Given the description of an element on the screen output the (x, y) to click on. 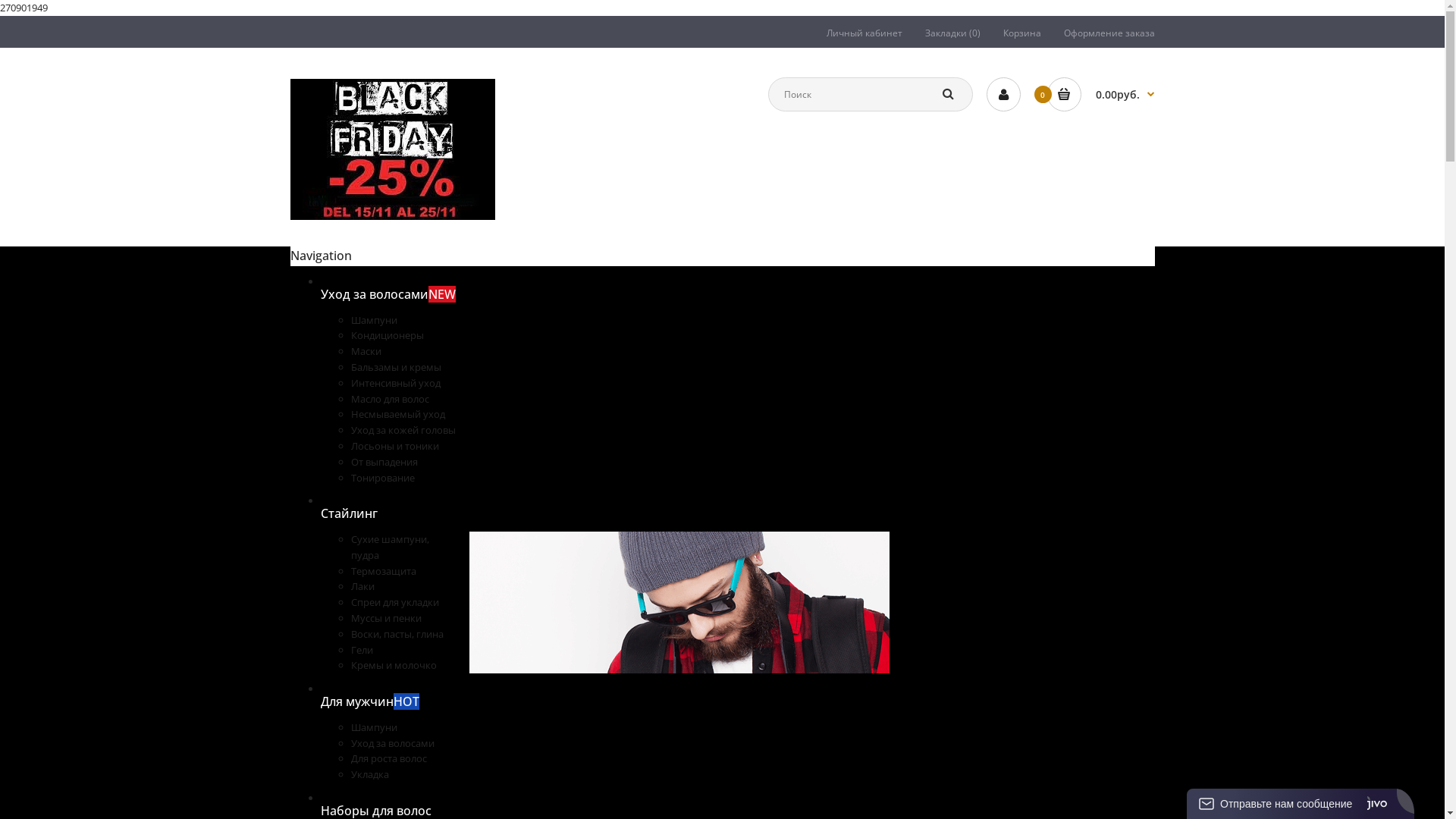
Vipcosmetics Element type: hover (391, 148)
